Given the description of an element on the screen output the (x, y) to click on. 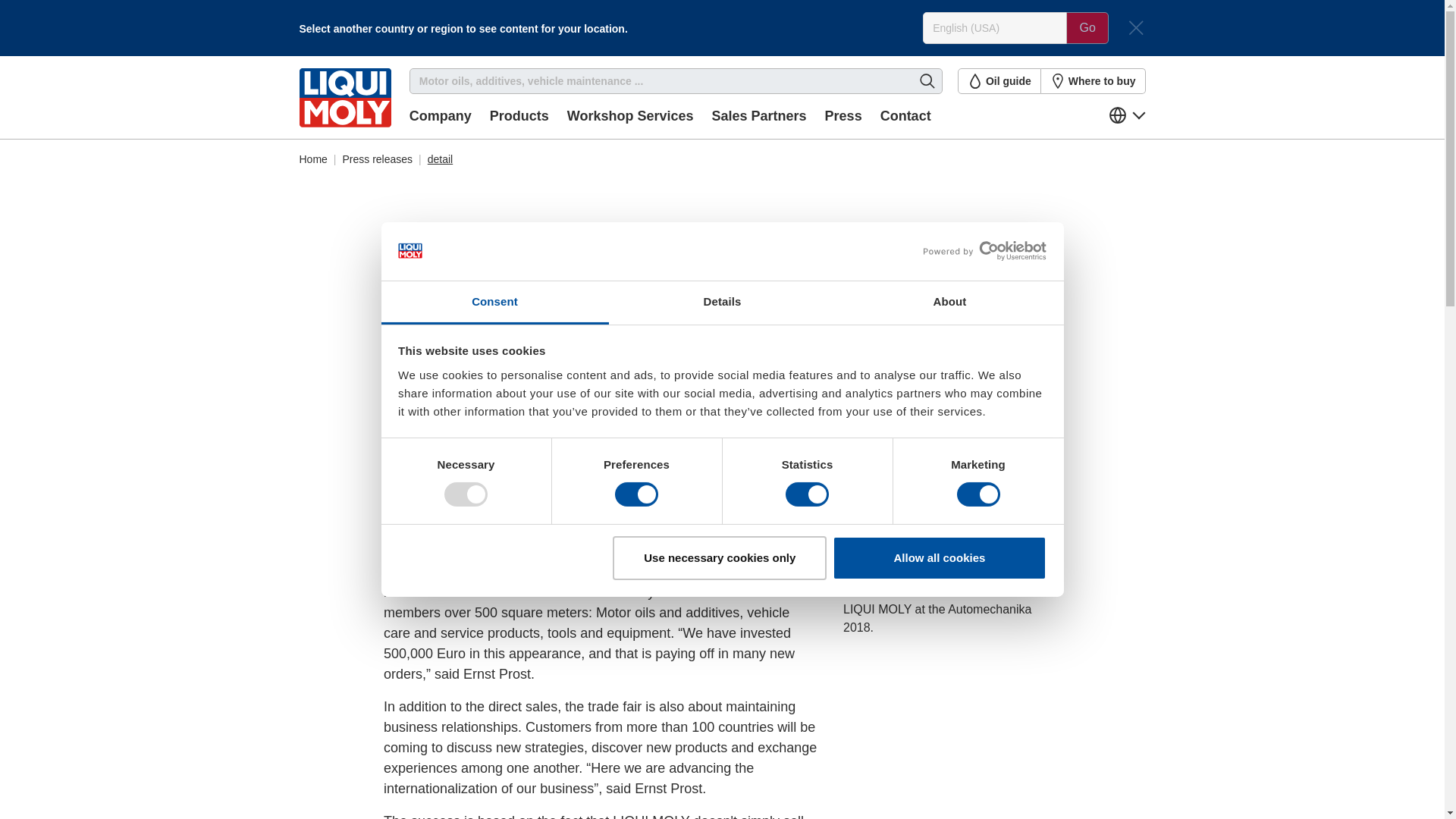
Details (721, 302)
Home Press releases detail (721, 153)
About (948, 302)
Consent (494, 302)
